Given the description of an element on the screen output the (x, y) to click on. 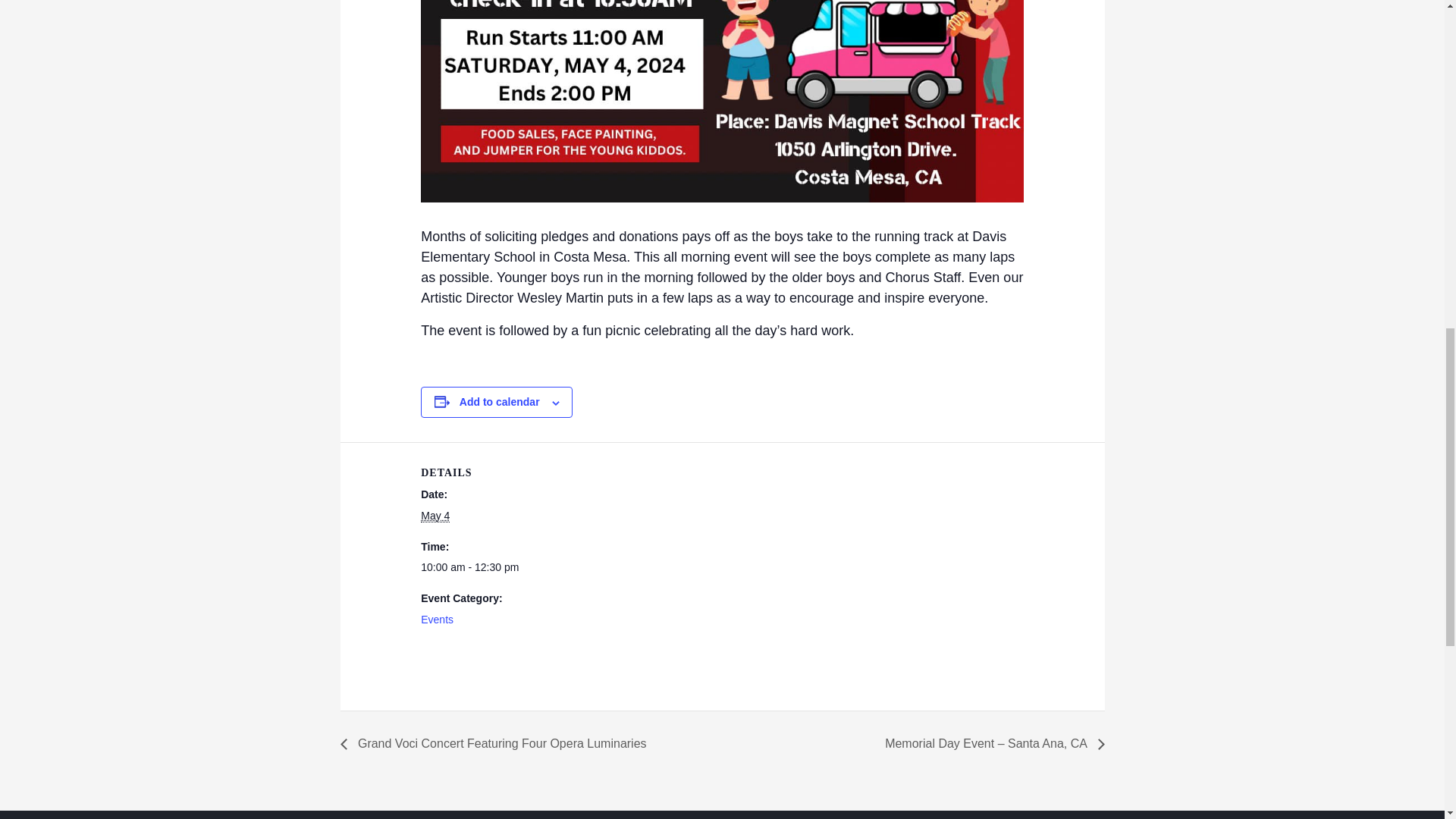
2024-05-04 (484, 567)
Add to calendar (500, 401)
2024-05-04 (434, 515)
